Given the description of an element on the screen output the (x, y) to click on. 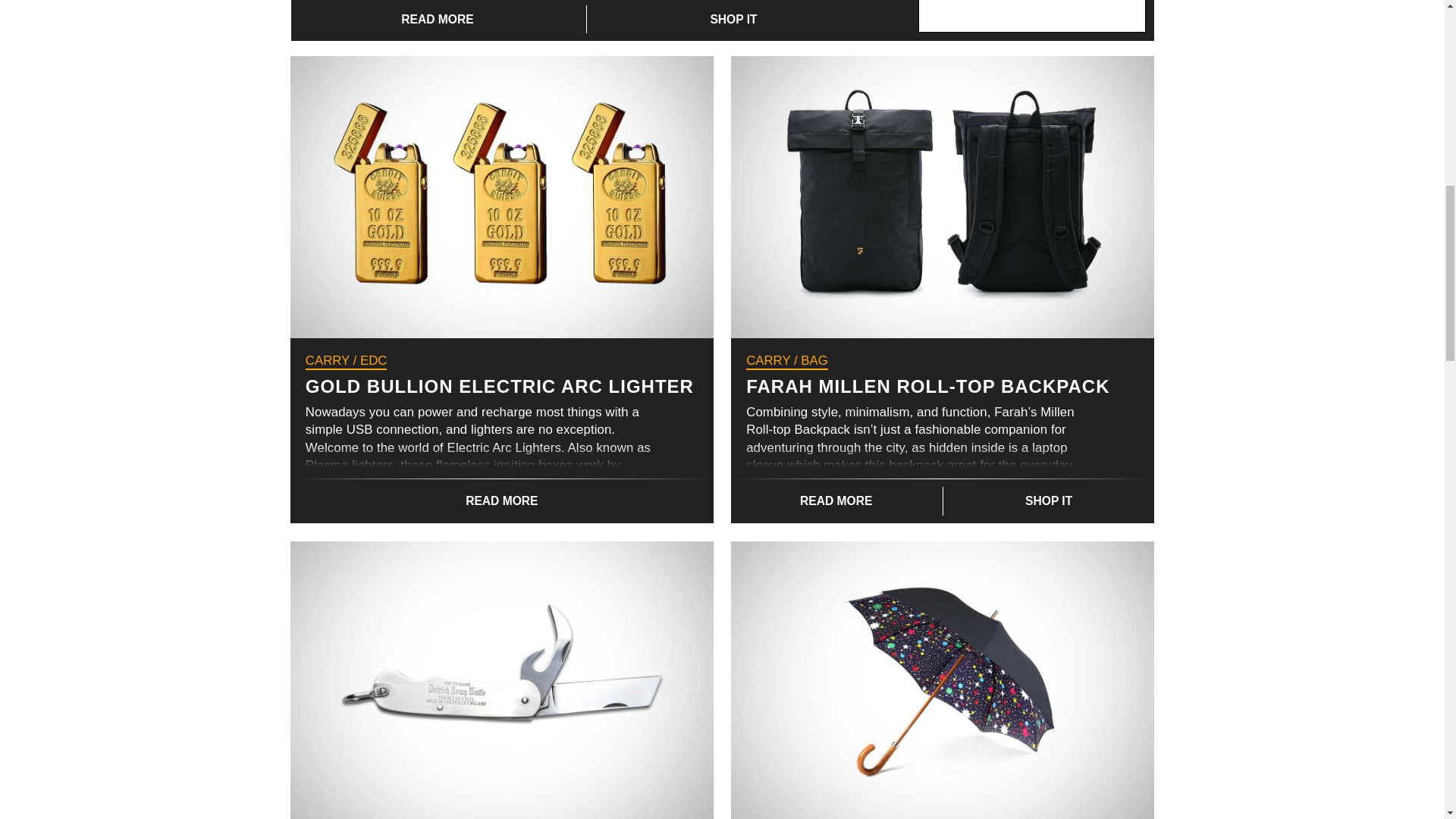
SHOP IT (733, 19)
READ MORE ABOUT MANGO TANGO VICTORINOX POCKET KNIFE (438, 19)
EDC (373, 359)
SHOP IT (1048, 500)
READ MORE ABOUT GOLD BULLION ELECTRIC ARC LIGHTER (501, 500)
Farah Millen Roll-top Backpack (942, 197)
READ MORE ABOUT FARAH MILLEN ROLL-TOP BACKPACK (835, 500)
Mango Tango Victorinox Pocket Knife (438, 19)
CARRY (767, 359)
GOLD BULLION ELECTRIC ARC LIGHTER (499, 385)
